Given the description of an element on the screen output the (x, y) to click on. 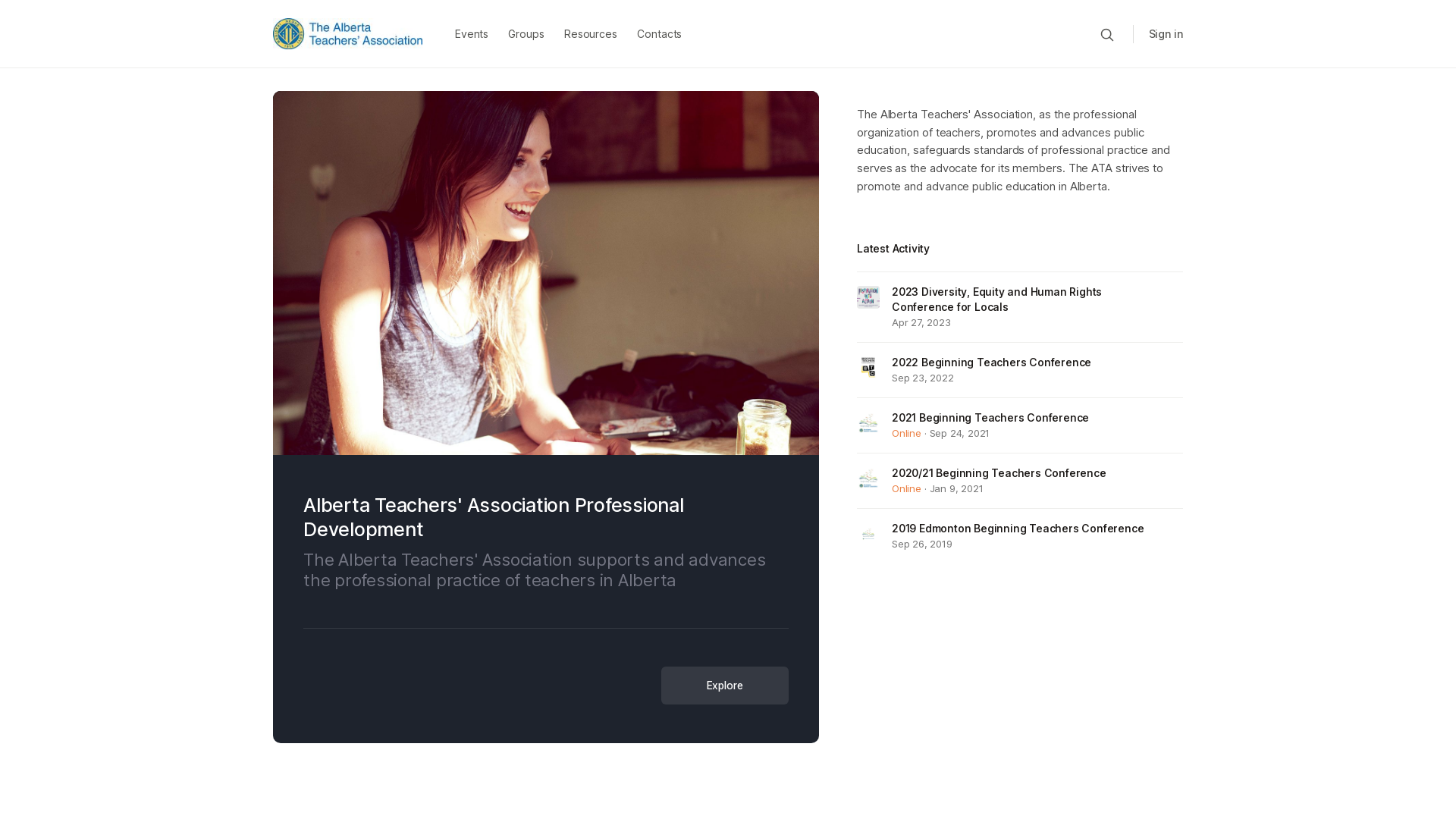
2019 Edmonton Beginning Teachers Conference Element type: text (1017, 528)
Events Element type: text (471, 33)
Explore Element type: text (724, 685)
Contacts Element type: text (659, 33)
2022 Beginning Teachers Conference Element type: text (991, 362)
2020/21 Beginning Teachers Conference Element type: text (998, 472)
2021 Beginning Teachers Conference Element type: text (989, 417)
Groups Element type: text (526, 33)
Sign in Element type: text (1165, 33)
Resources Element type: text (590, 33)
